Given the description of an element on the screen output the (x, y) to click on. 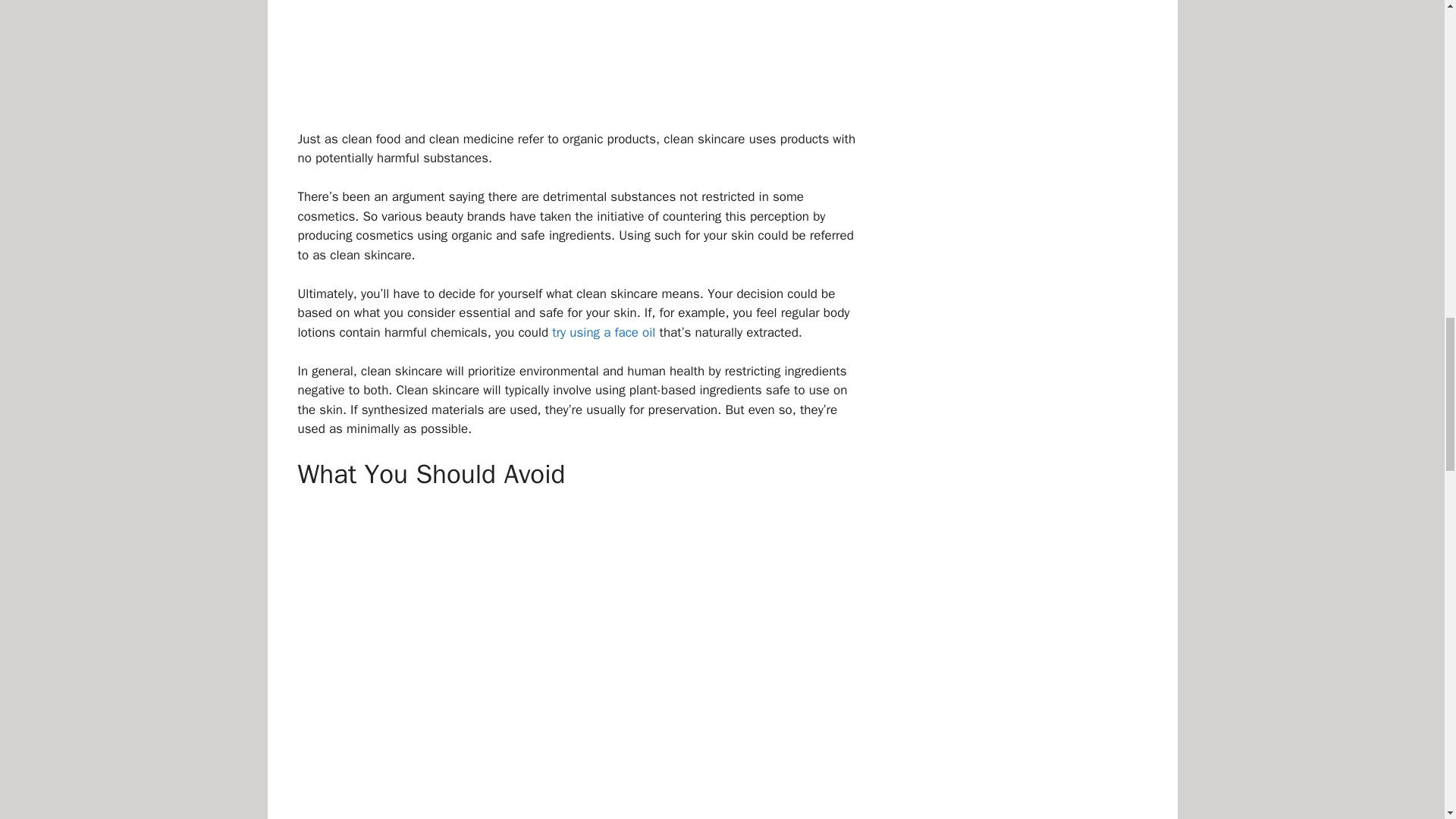
try using a face oil (603, 332)
